Given the description of an element on the screen output the (x, y) to click on. 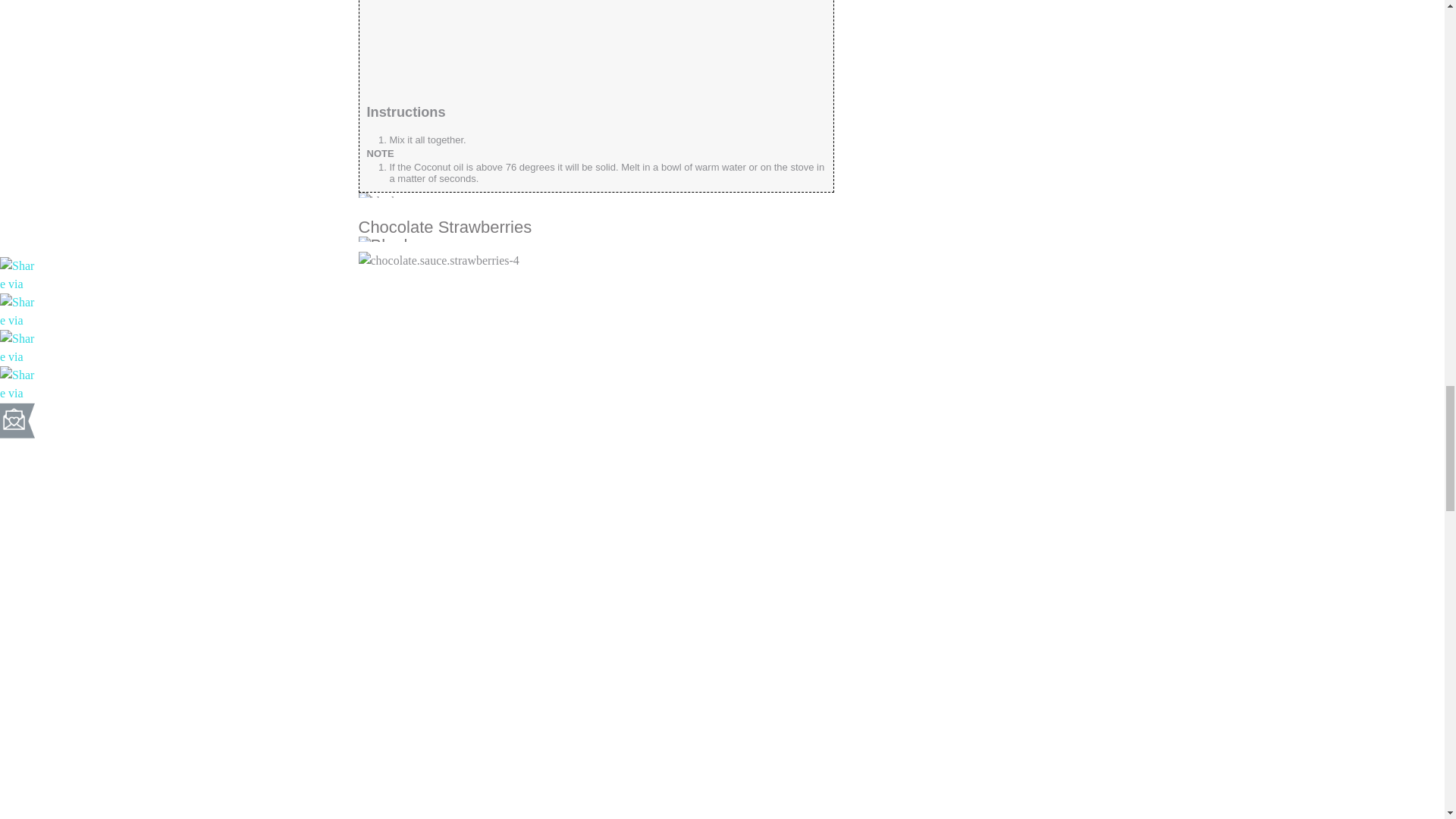
chocolate.sauce.strawberries-2 (488, 45)
